Given the description of an element on the screen output the (x, y) to click on. 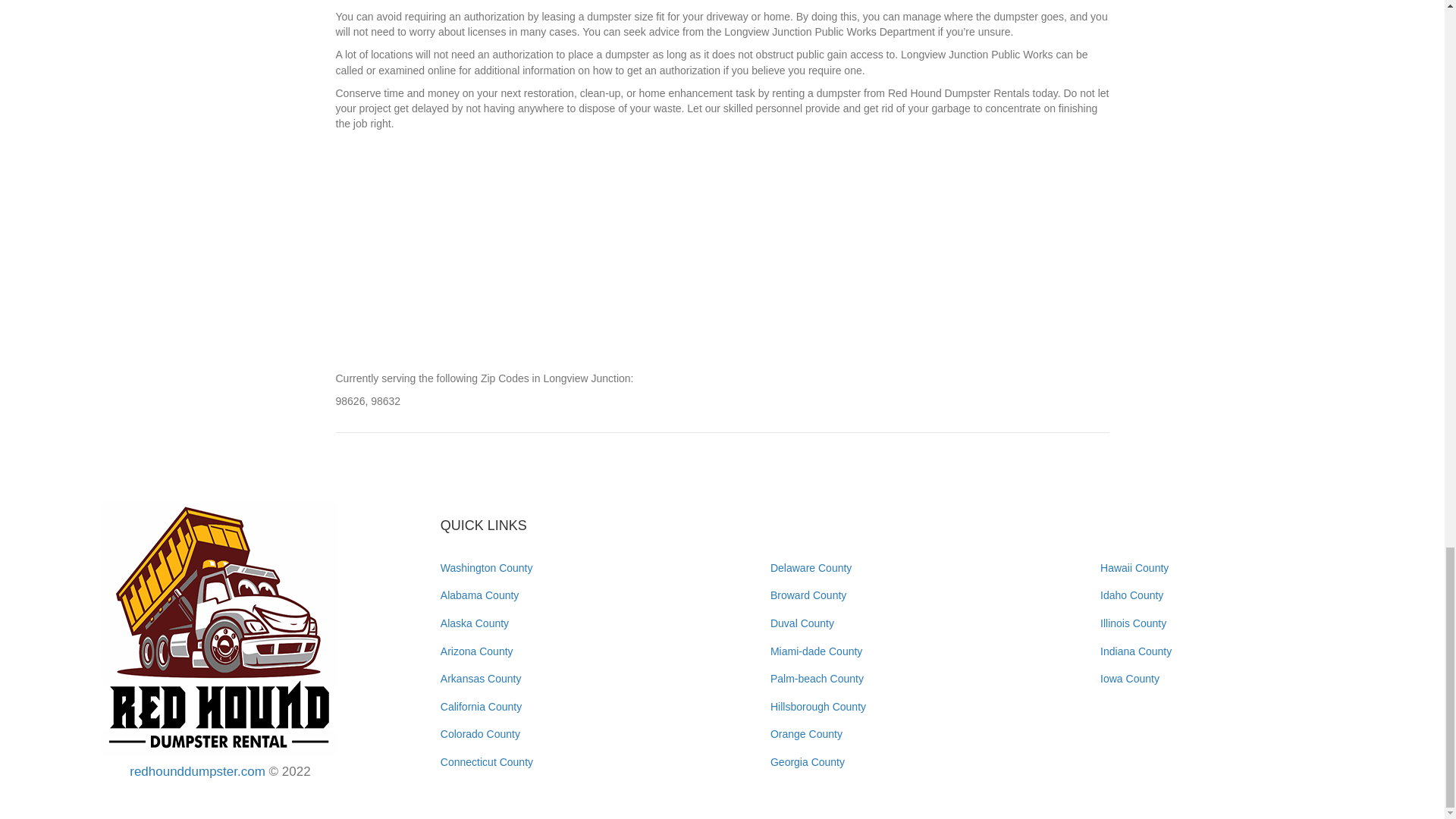
Washington County (486, 567)
redhounddumpster (219, 628)
Alabama County (480, 594)
redhounddumpster.com (196, 771)
